Given the description of an element on the screen output the (x, y) to click on. 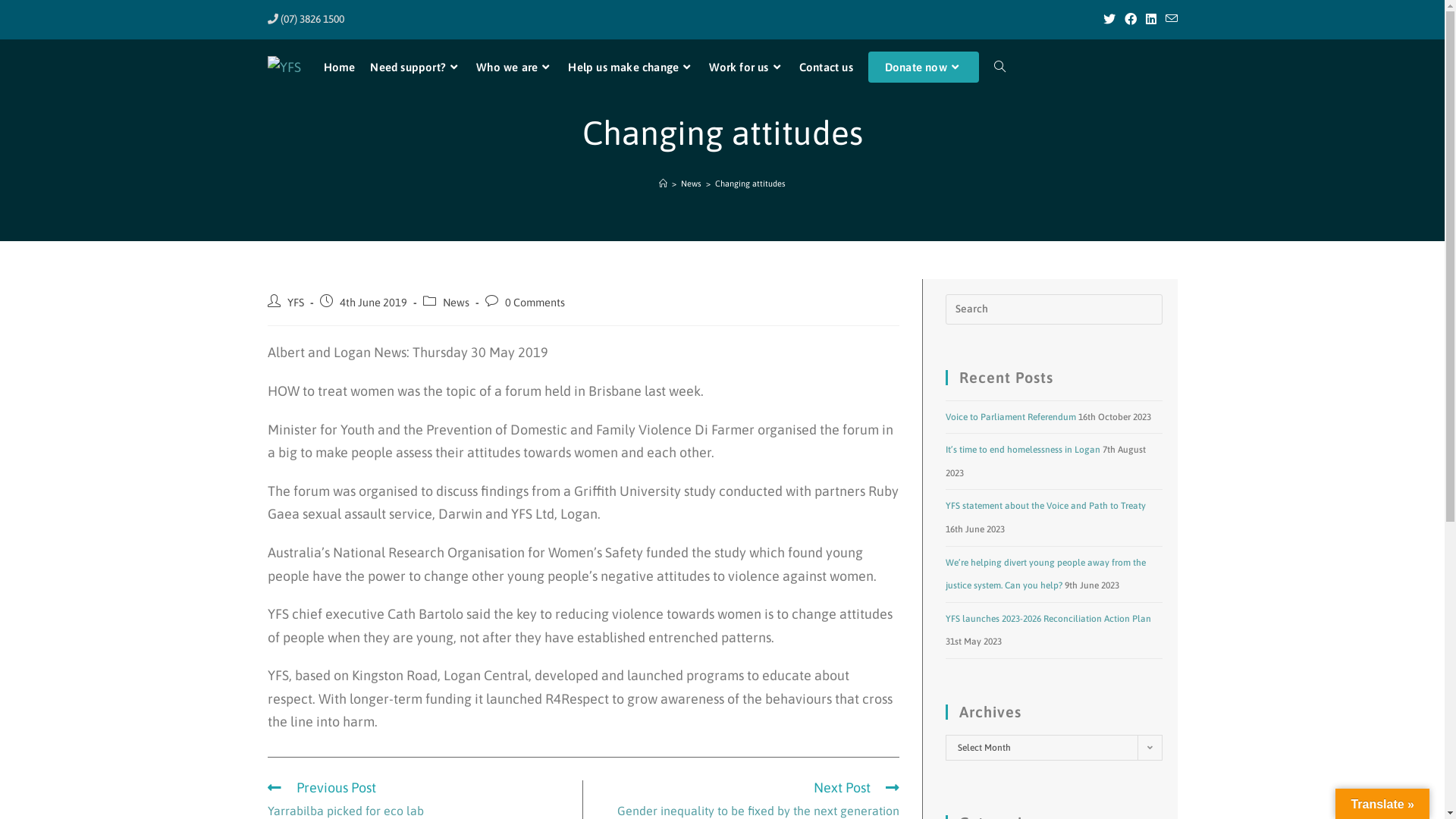
YFS statement about the Voice and Path to Treaty Element type: text (1044, 505)
Changing attitudes Element type: text (750, 183)
Need support? Element type: text (415, 67)
Voice to Parliament Referendum Element type: text (1009, 416)
Contact us Element type: text (825, 67)
Work for us Element type: text (745, 67)
0 Comments Element type: text (534, 301)
Home Element type: text (338, 67)
News Element type: text (455, 301)
Who we are Element type: text (514, 67)
YFS Element type: text (294, 301)
YFS launches 2023-2026 Reconciliation Action Plan Element type: text (1047, 618)
Donate now Element type: text (923, 67)
News Element type: text (690, 183)
Help us make change Element type: text (630, 67)
